Given the description of an element on the screen output the (x, y) to click on. 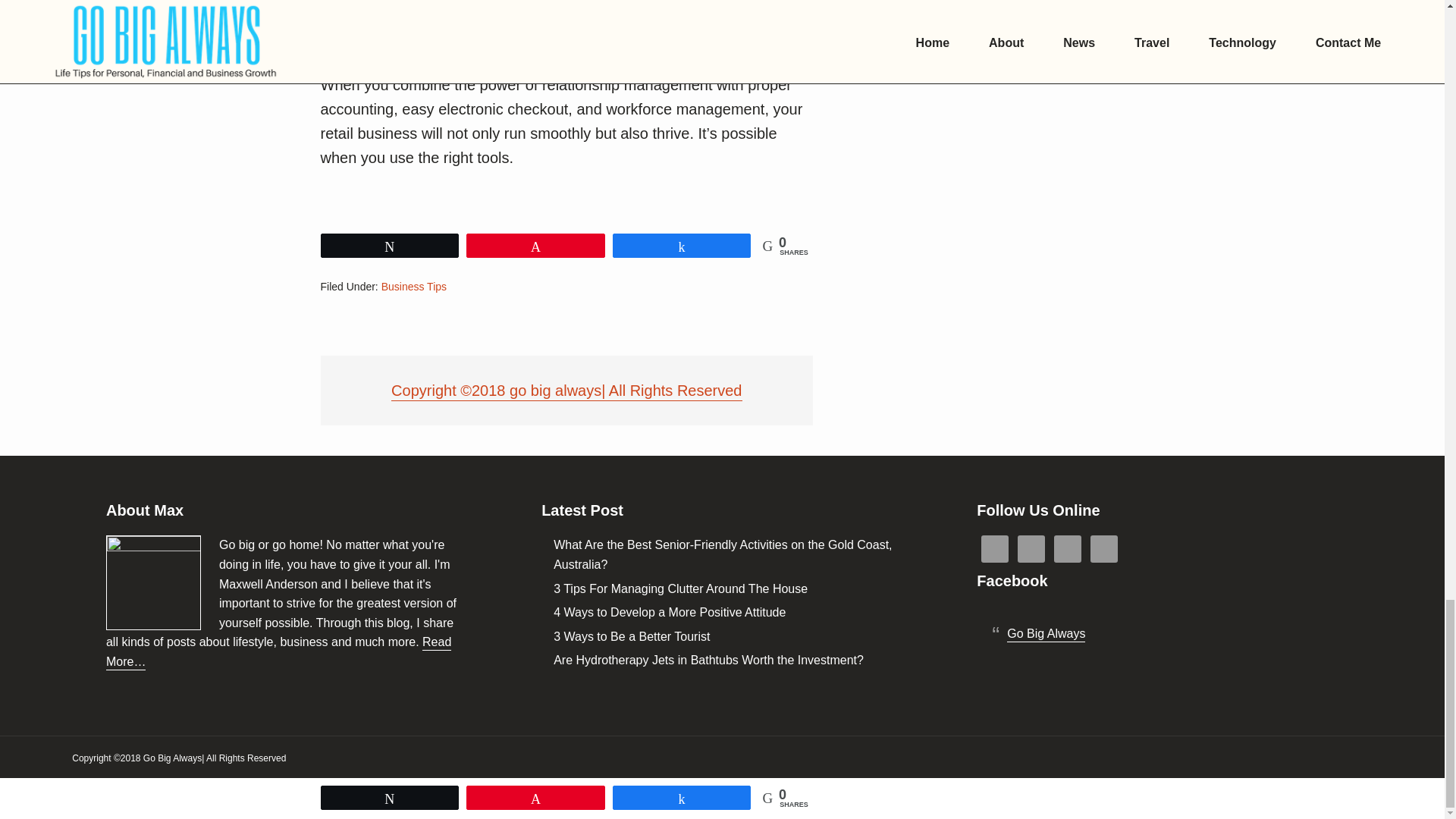
Business Tips (413, 287)
